Given the description of an element on the screen output the (x, y) to click on. 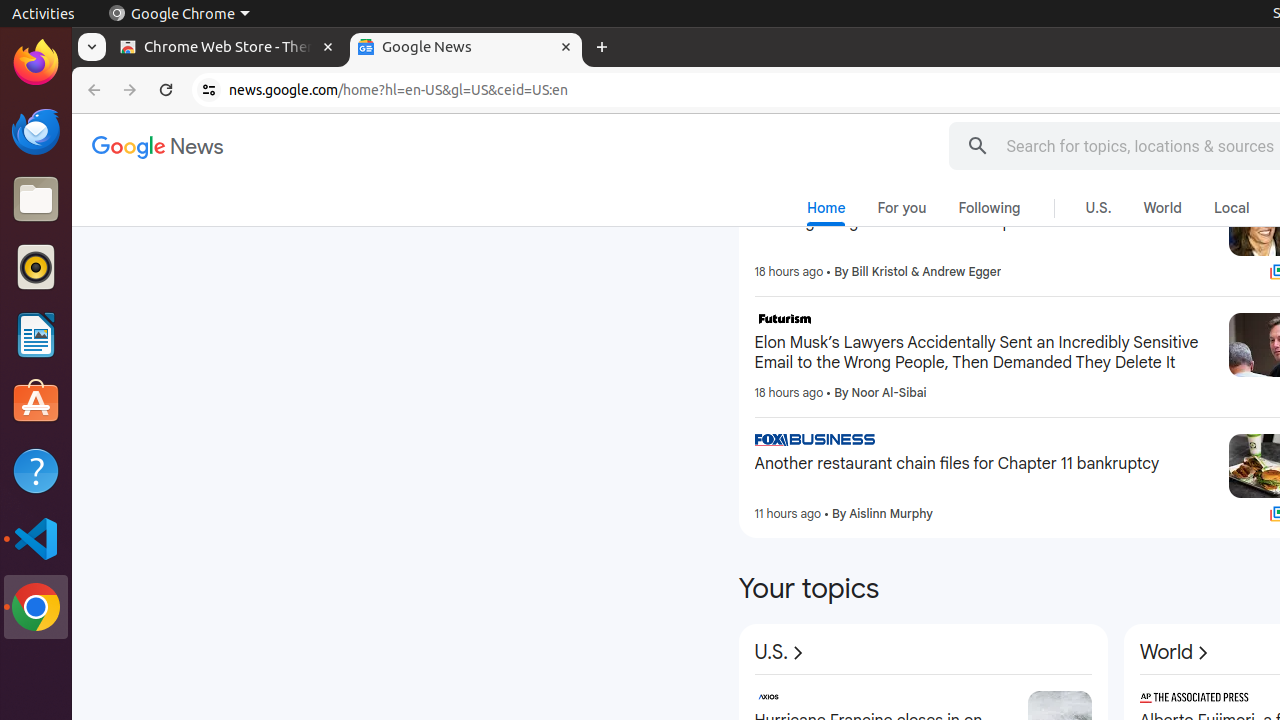
U.S. Element type: link (781, 653)
